Given the description of an element on the screen output the (x, y) to click on. 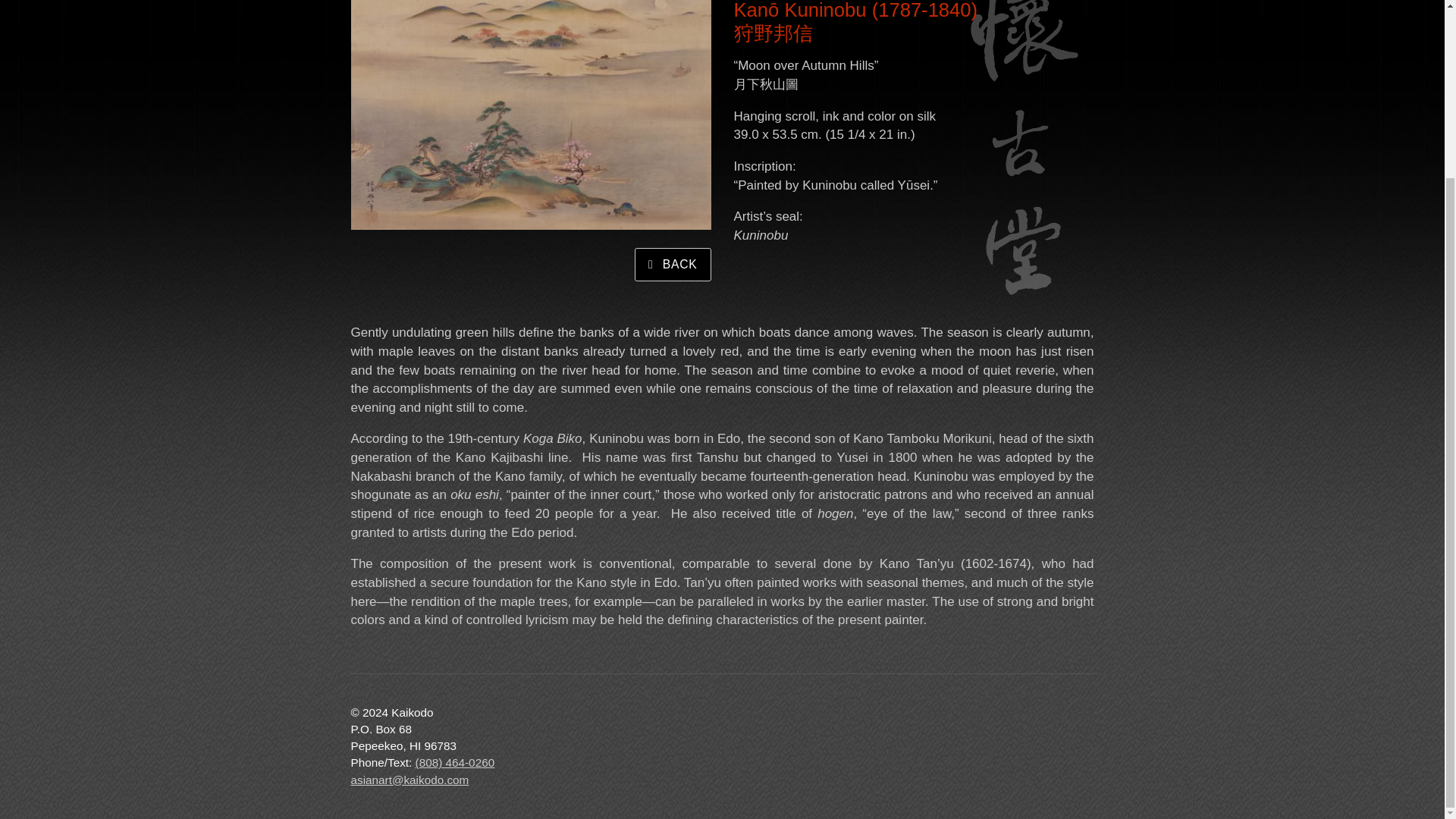
BACK (672, 264)
